Given the description of an element on the screen output the (x, y) to click on. 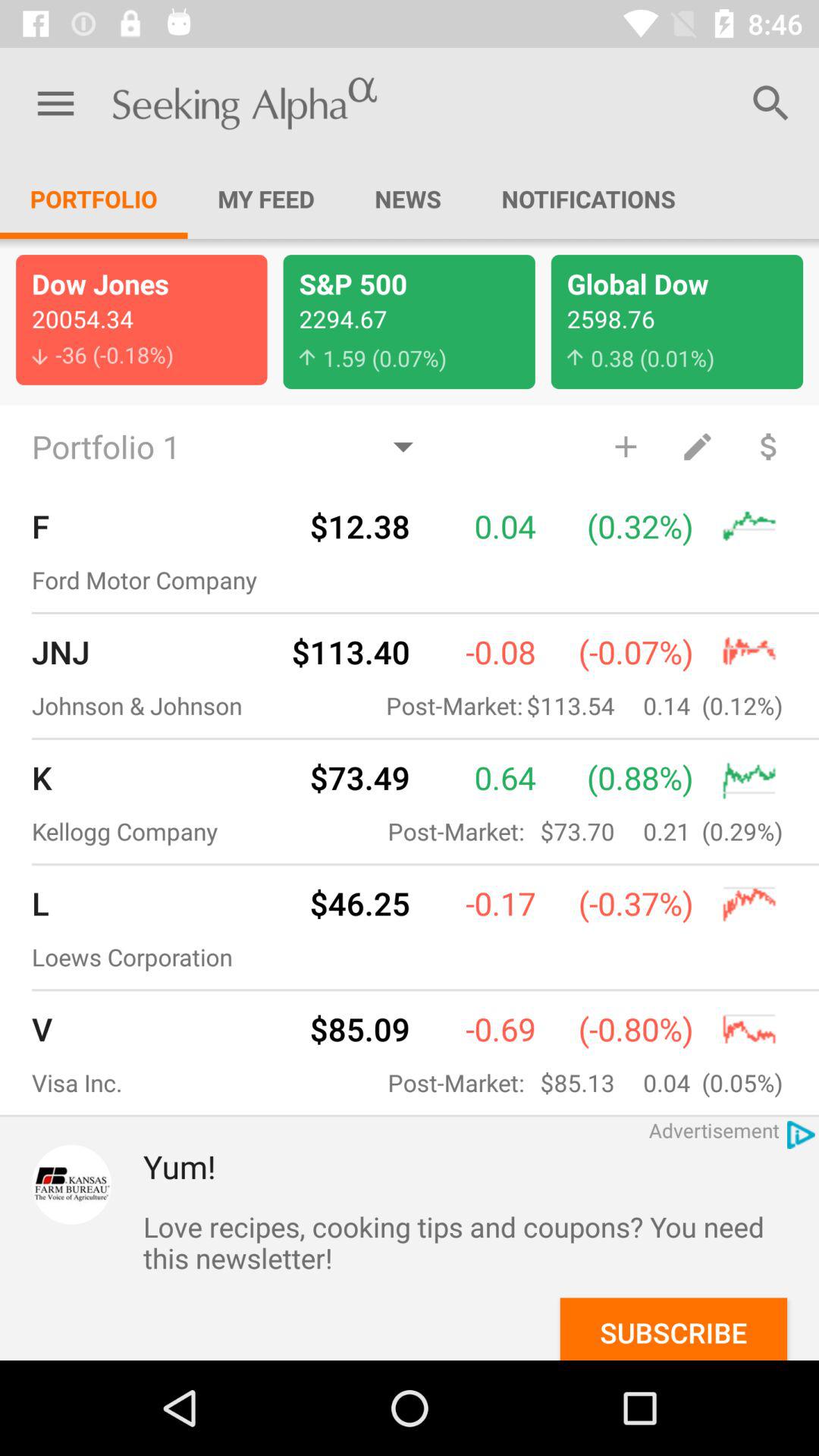
launch the item next to portfolio 1 icon (625, 446)
